Given the description of an element on the screen output the (x, y) to click on. 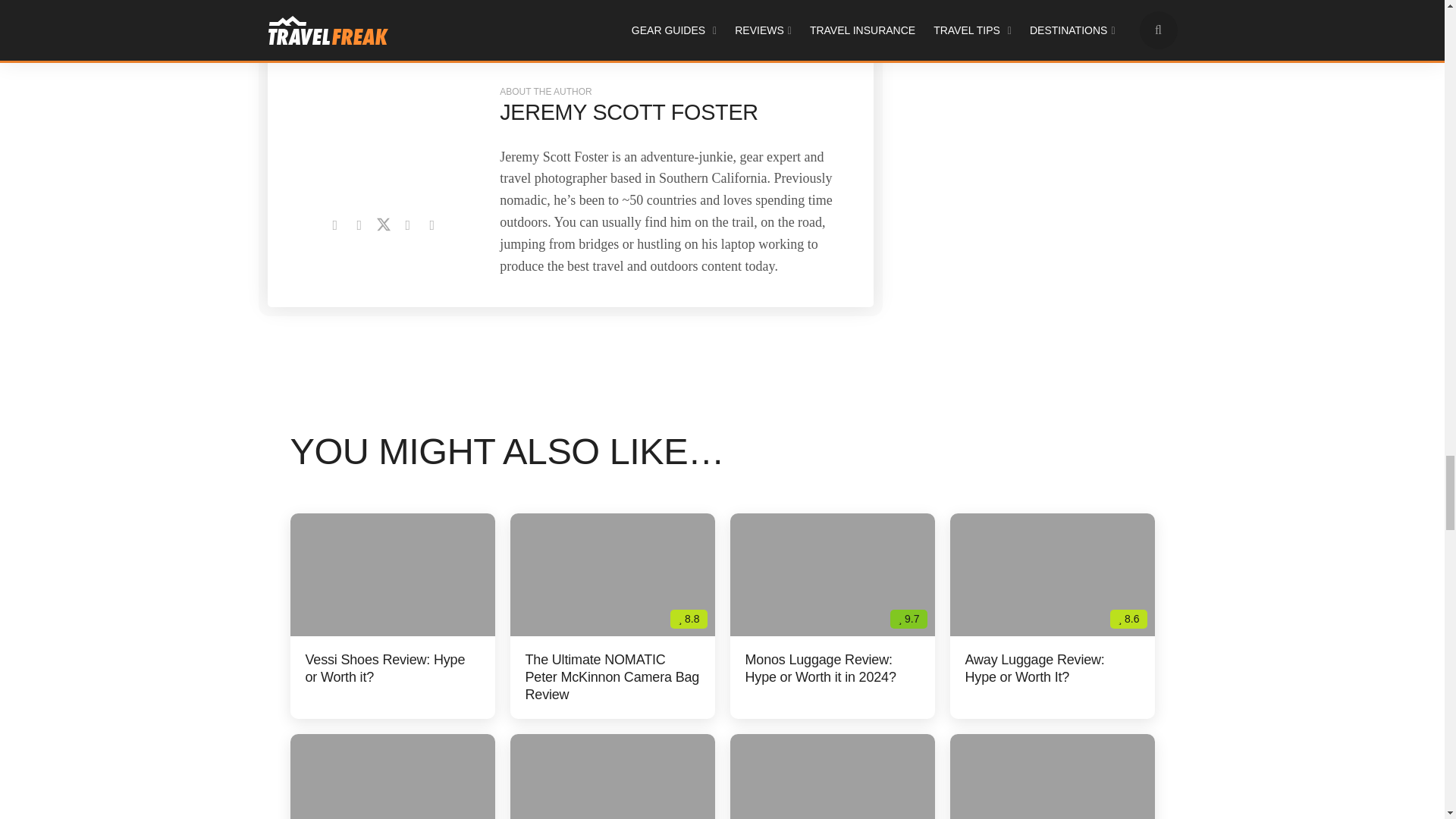
Jeremy Scott Foster on Twitter (383, 223)
Jeremy Scott Foster on Facebook (359, 223)
Jeremy Scott Foster's Website (334, 223)
